Given the description of an element on the screen output the (x, y) to click on. 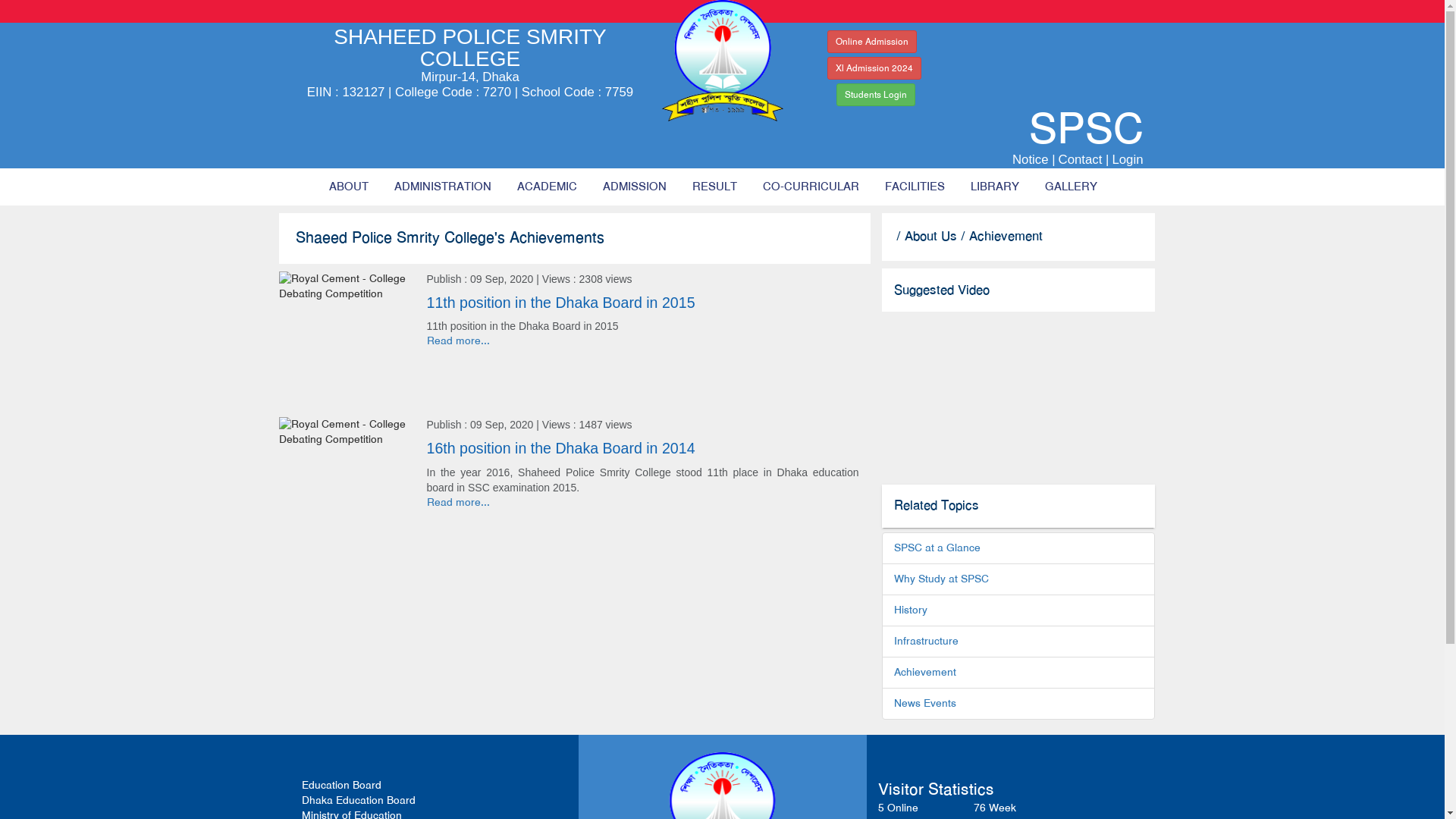
Why Study at SPSC Element type: text (940, 578)
ACADEMIC Element type: text (546, 186)
ADMINISTRATION Element type: text (441, 186)
Online Admission Element type: text (871, 41)
Royal Cement - College Debating Competition Element type: hover (347, 286)
Read more... Element type: text (457, 340)
GALLERY Element type: text (1070, 186)
Students Login Element type: text (874, 94)
Dhaka Education Board Element type: text (358, 799)
Xl Admission 2024 Element type: text (873, 67)
SHAHEED POLICE SMRITY COLLEGE Element type: text (469, 51)
History Element type: text (909, 609)
CO-CURRICULAR Element type: text (810, 186)
ADMISSION Element type: text (634, 186)
Contact | Element type: text (1083, 159)
SPSC at a Glance Element type: text (936, 547)
SPSC Element type: text (973, 136)
Infrastructure Element type: text (925, 640)
Royal Cement - College Debating Competition Element type: hover (347, 432)
News Events Element type: text (924, 702)
Login Element type: text (1126, 159)
FACILITIES Element type: text (914, 186)
Read more... Element type: text (457, 501)
ABOUT Element type: text (347, 186)
Achievement Element type: text (924, 671)
LIBRARY Element type: text (994, 186)
RESULT Element type: text (714, 186)
Notice | Element type: text (1033, 159)
Education Board Element type: text (341, 784)
